Given the description of an element on the screen output the (x, y) to click on. 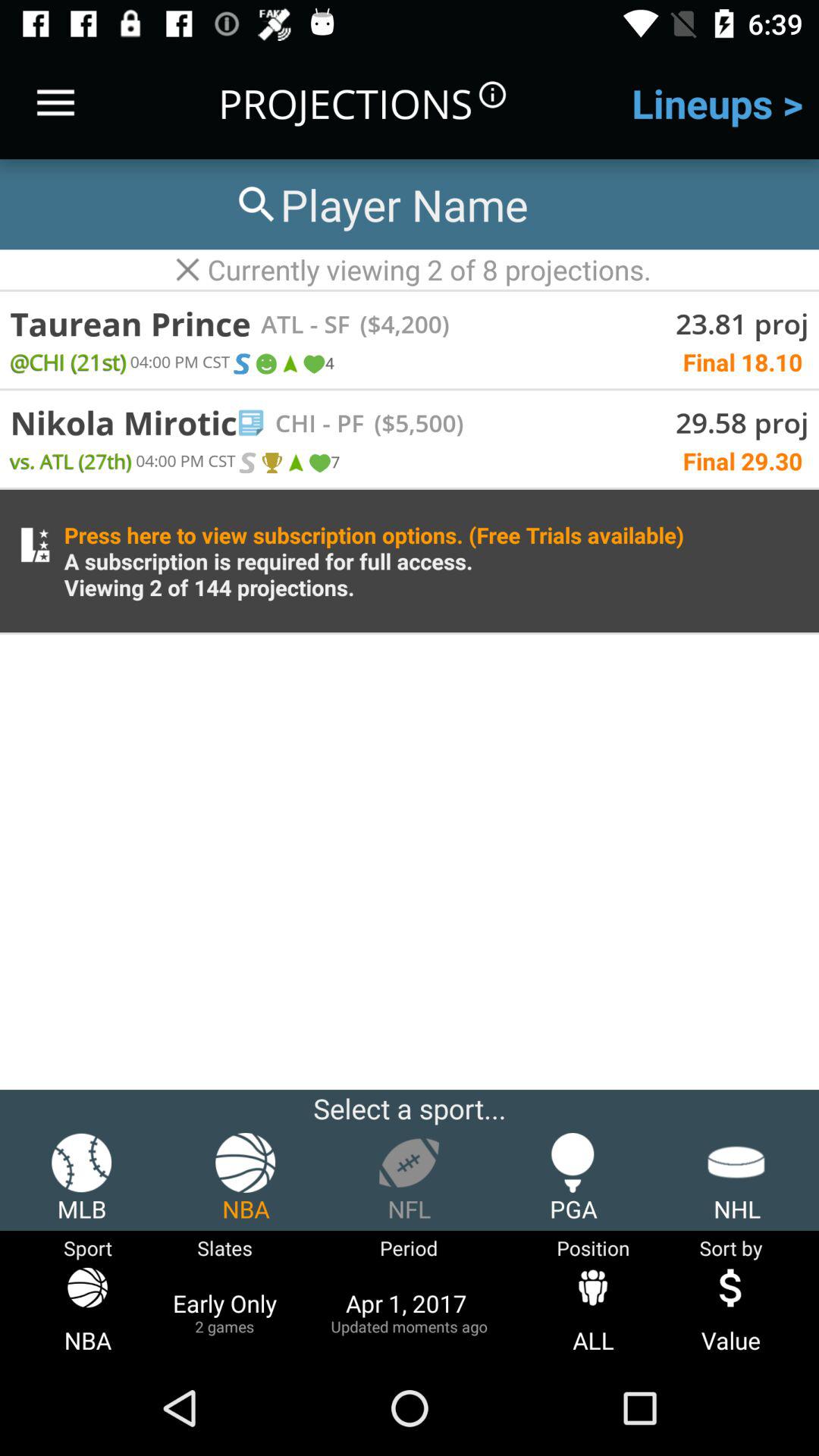
press icon below atl (289, 363)
